Given the description of an element on the screen output the (x, y) to click on. 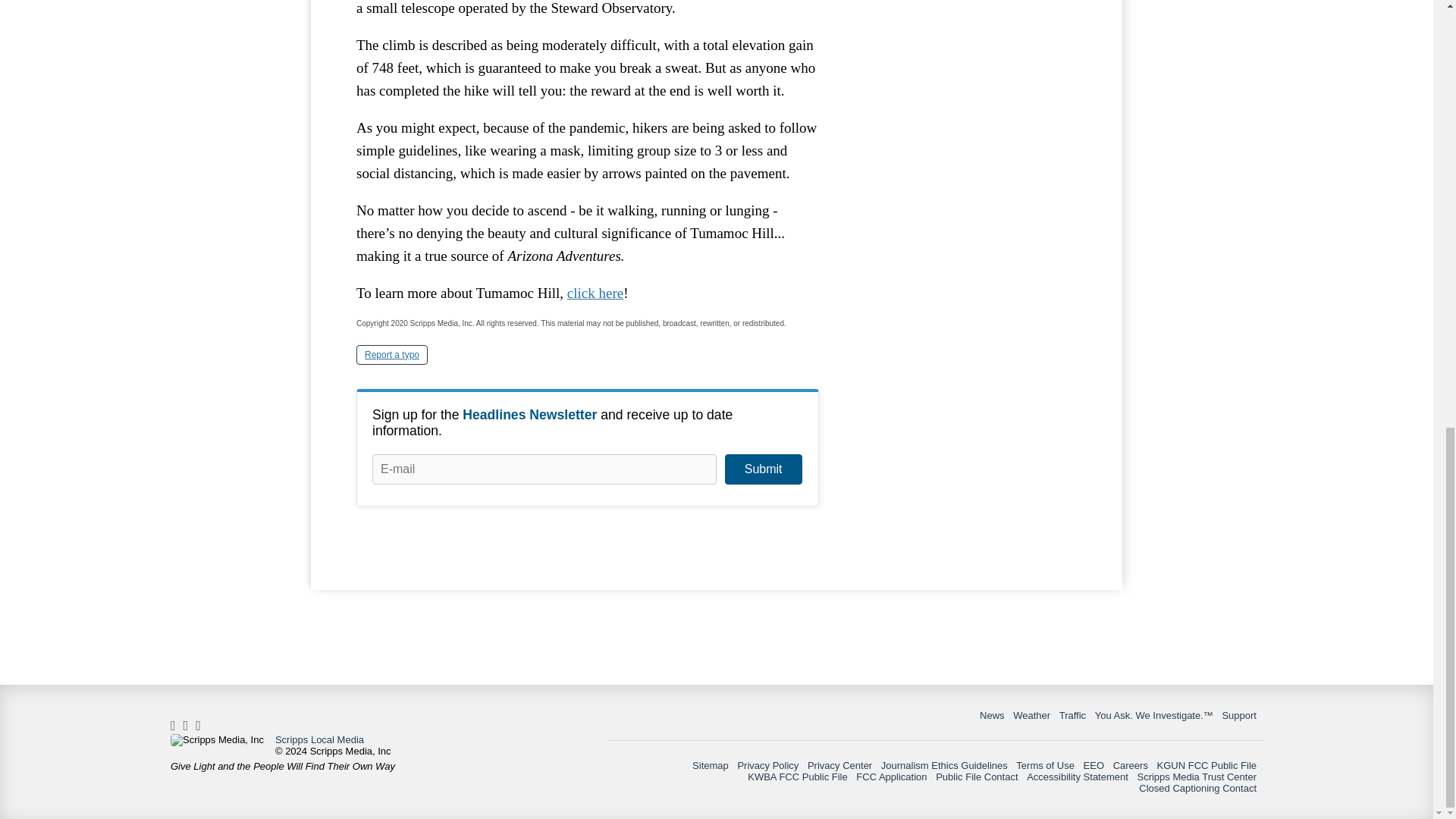
Submit (763, 469)
